Given the description of an element on the screen output the (x, y) to click on. 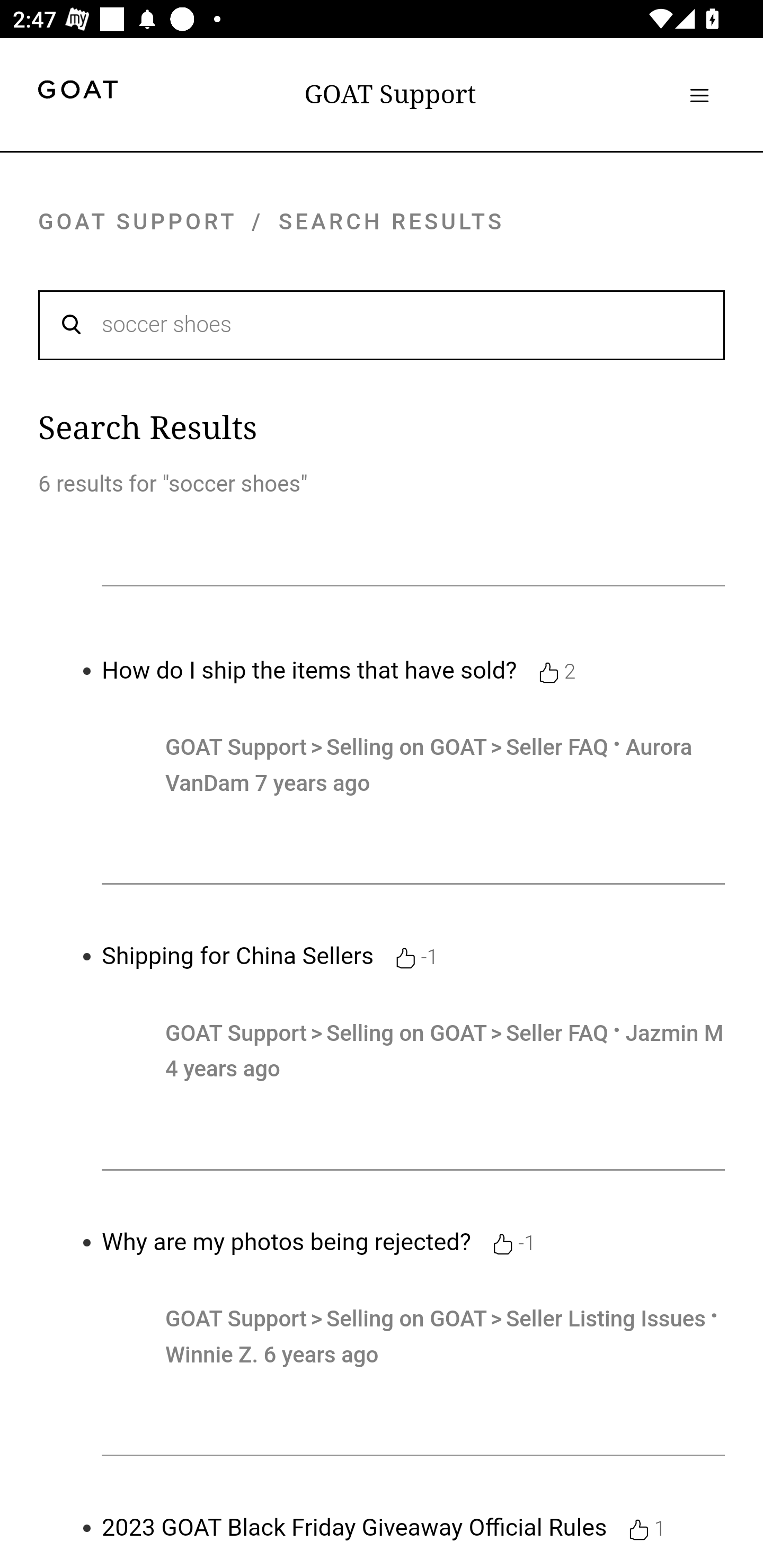
goat header logo (77, 92)
Toggle navigation menu (698, 94)
GOAT Support (389, 94)
GOAT SUPPORT (137, 221)
soccer shoes (381, 324)
How do I ship the items that have sold? (309, 670)
GOAT Support (236, 746)
Selling on GOAT  (408, 746)
Seller FAQ (556, 746)
Shipping for China Sellers (238, 955)
GOAT Support (236, 1033)
Selling on GOAT  (408, 1033)
Seller FAQ (556, 1033)
Why are my photos being rejected? (286, 1241)
GOAT Support (236, 1319)
Selling on GOAT  (408, 1319)
Seller Listing Issues (605, 1319)
2023 GOAT Black Friday Giveaway Official Rules (354, 1527)
